Given the description of an element on the screen output the (x, y) to click on. 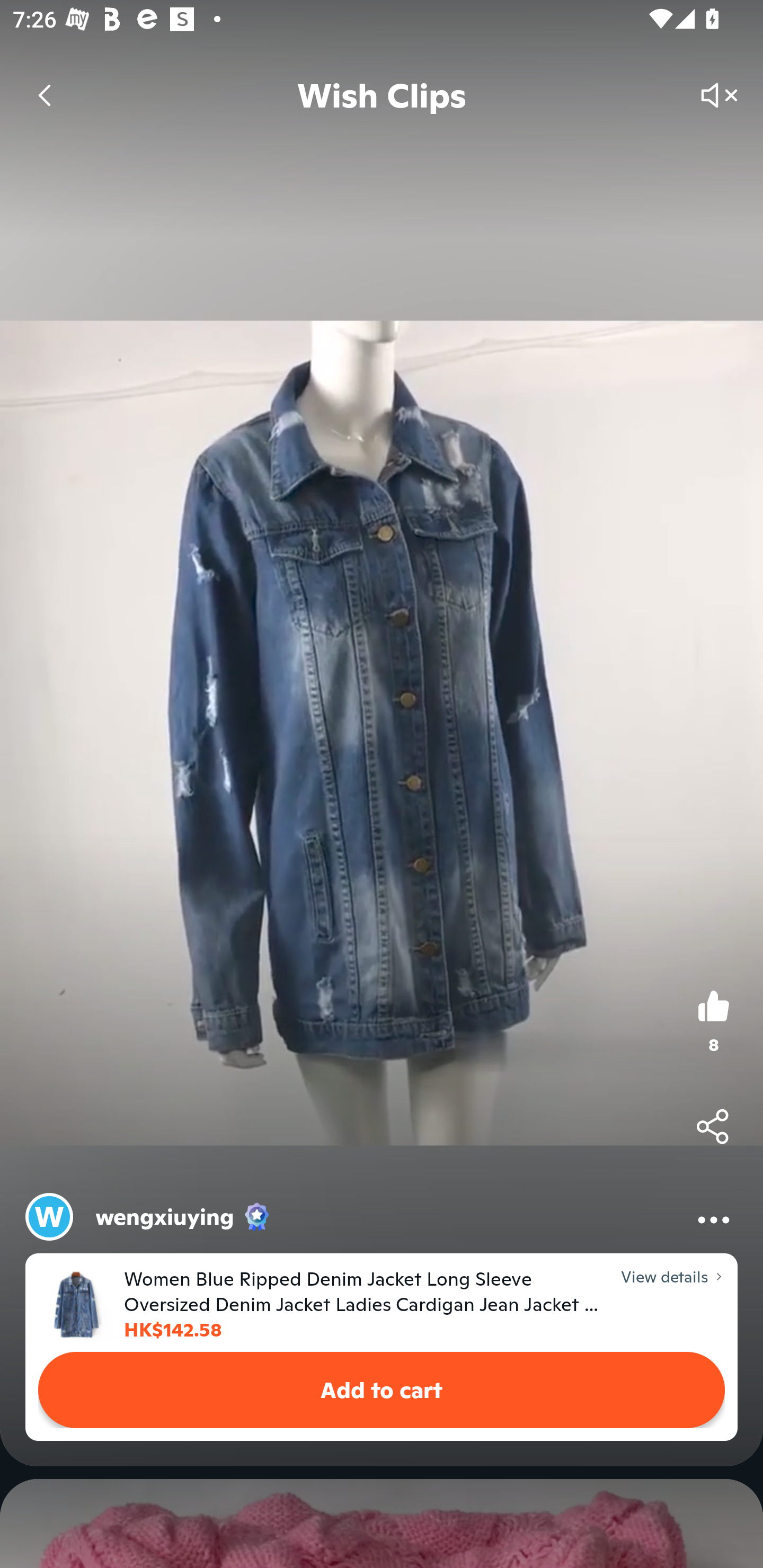
W (49, 1216)
wengxiuying (165, 1216)
Add to cart (381, 1389)
